Given the description of an element on the screen output the (x, y) to click on. 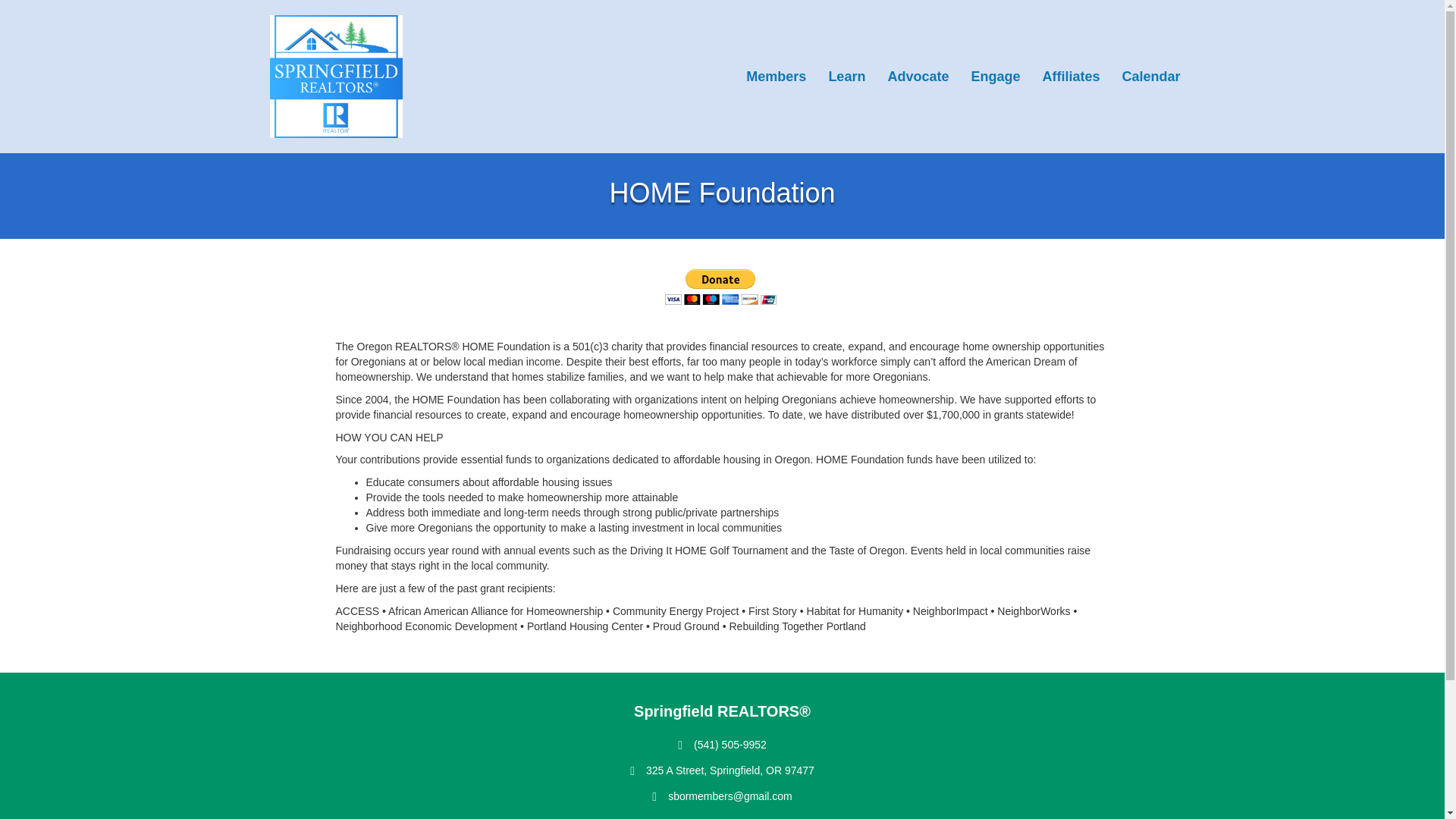
Logo 5 (336, 76)
Members (775, 76)
Learn (846, 76)
PayPal - The safer, easier way to pay online! (720, 286)
